Given the description of an element on the screen output the (x, y) to click on. 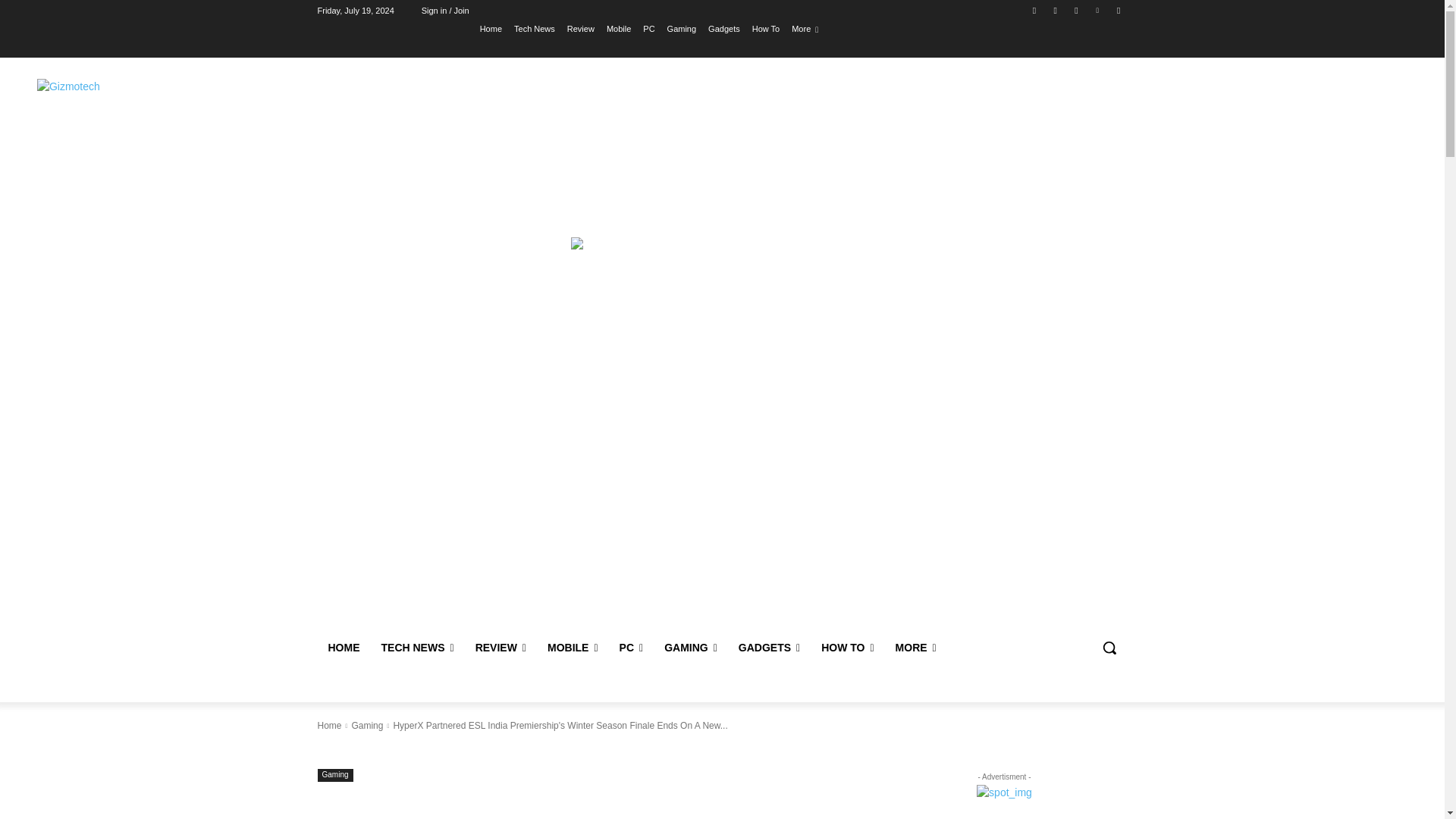
Vimeo (1097, 9)
Gadgets (723, 28)
Facebook (1034, 9)
How To (765, 28)
Gaming (681, 28)
Review (580, 28)
Tech News (533, 28)
Home (491, 28)
Instagram (1055, 9)
Mobile (618, 28)
Youtube (1117, 9)
Twitter (1075, 9)
More (805, 28)
